Given the description of an element on the screen output the (x, y) to click on. 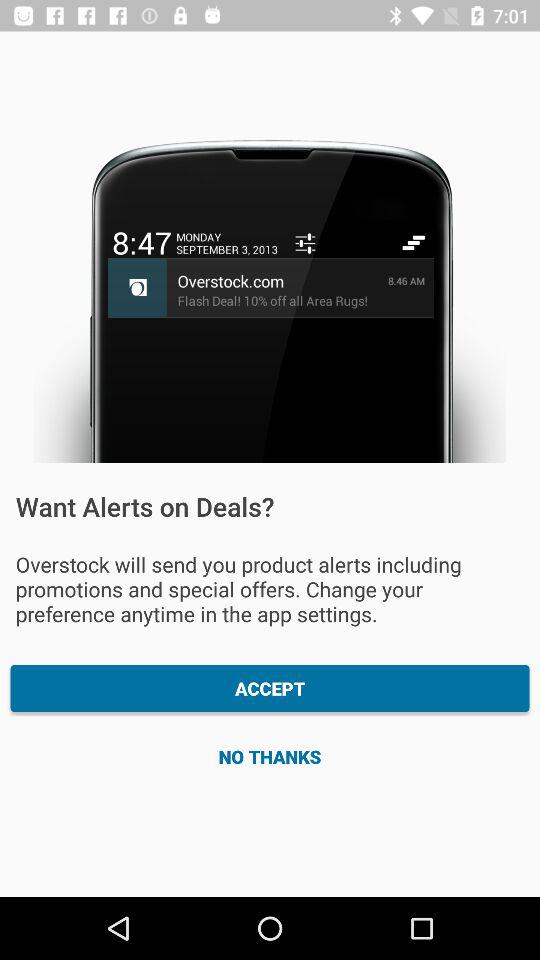
jump to no thanks (269, 756)
